Given the description of an element on the screen output the (x, y) to click on. 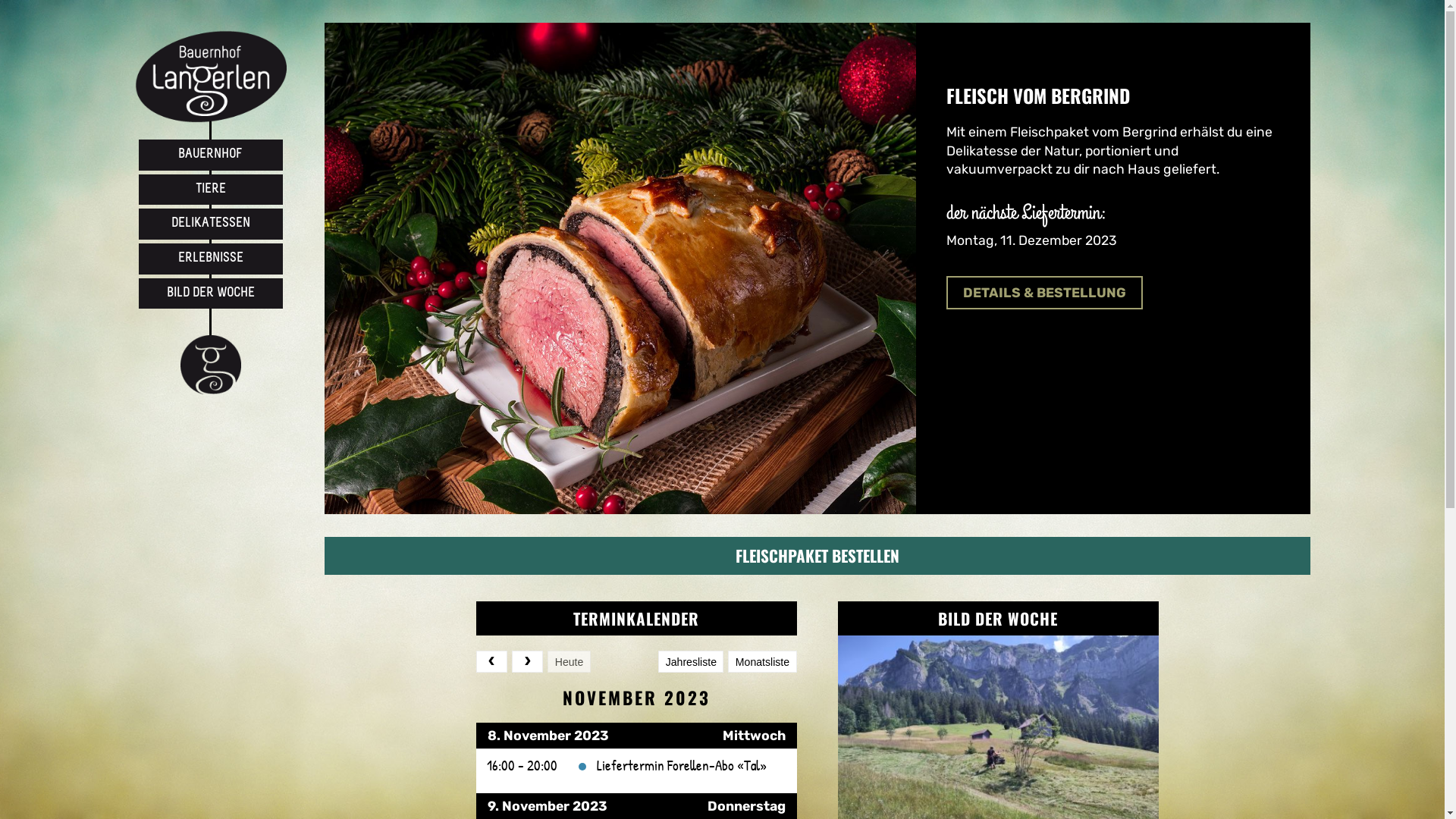
DELIKATESSEN Element type: text (210, 223)
Jahresliste Element type: text (690, 661)
FLEISCHPAKET BESTELLEN Element type: text (817, 555)
TIERE Element type: text (210, 189)
BILD DER WOCHE Element type: text (997, 618)
BILD DER WOCHE Element type: text (210, 293)
ERLEBNISSE Element type: text (210, 258)
Heute Element type: text (568, 661)
DETAILS & BESTELLUNG Element type: text (1044, 292)
BAUERNHOF Element type: text (210, 154)
Bauernhof Langerlen Element type: hover (210, 76)
Monatsliste Element type: text (762, 661)
